Given the description of an element on the screen output the (x, y) to click on. 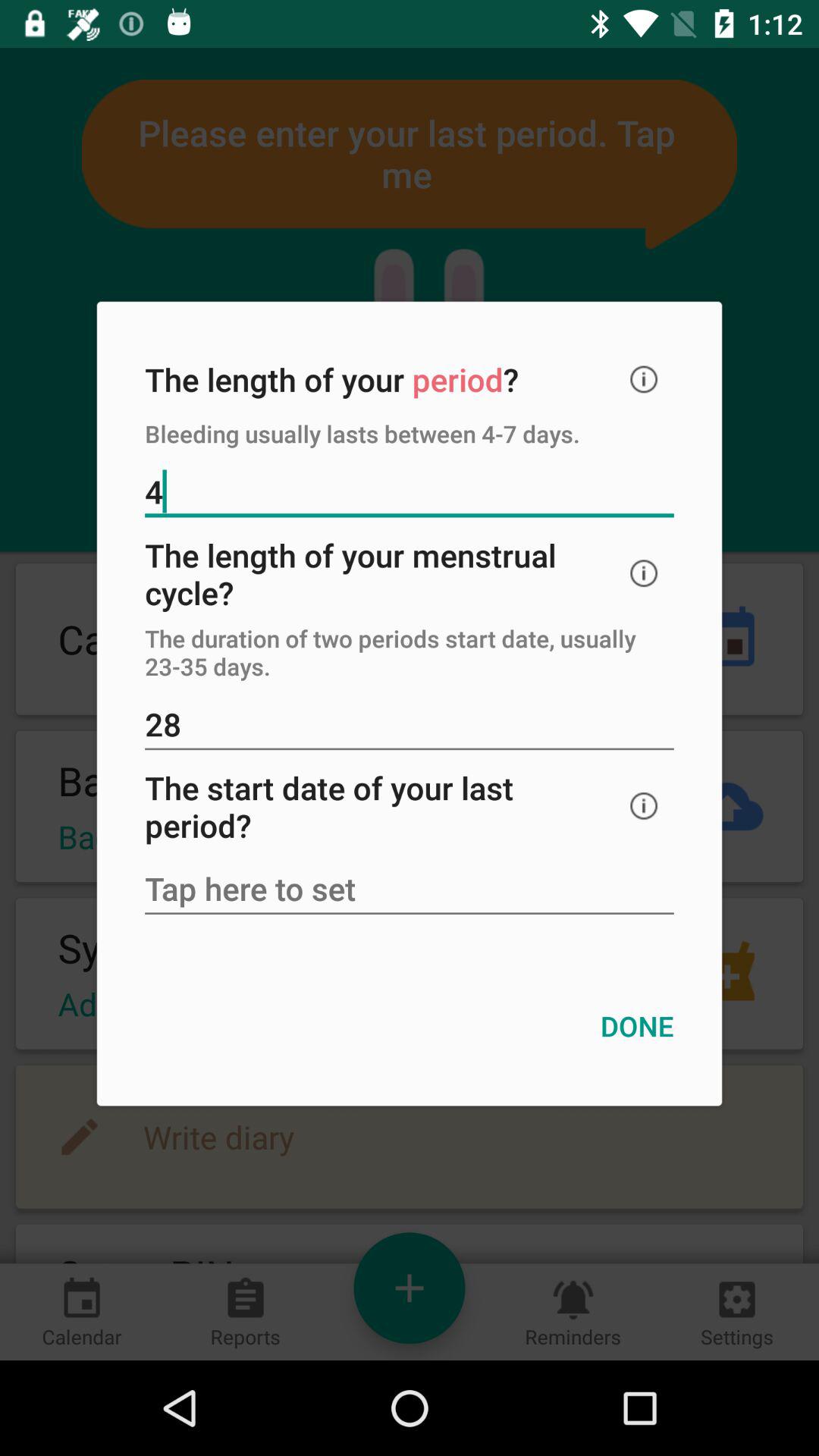
tap item next to the the length of (643, 379)
